Given the description of an element on the screen output the (x, y) to click on. 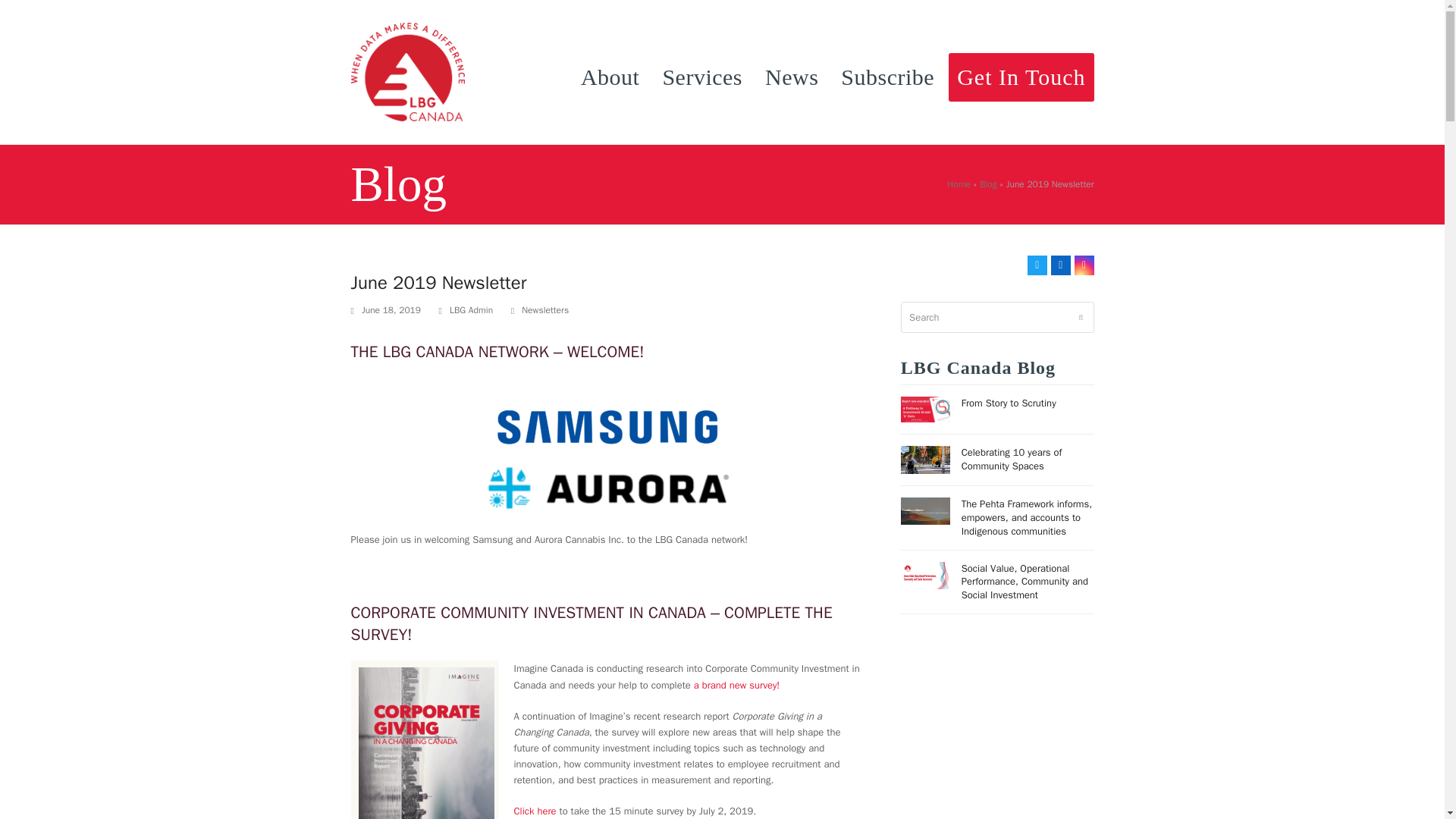
Services (702, 71)
LinkedIn (1060, 265)
LBG Admin (471, 309)
a brand new survey! (736, 684)
Blog (988, 184)
Home (959, 184)
Subscribe (886, 71)
Click here (534, 810)
Get In Touch (1020, 71)
News (791, 71)
